Given the description of an element on the screen output the (x, y) to click on. 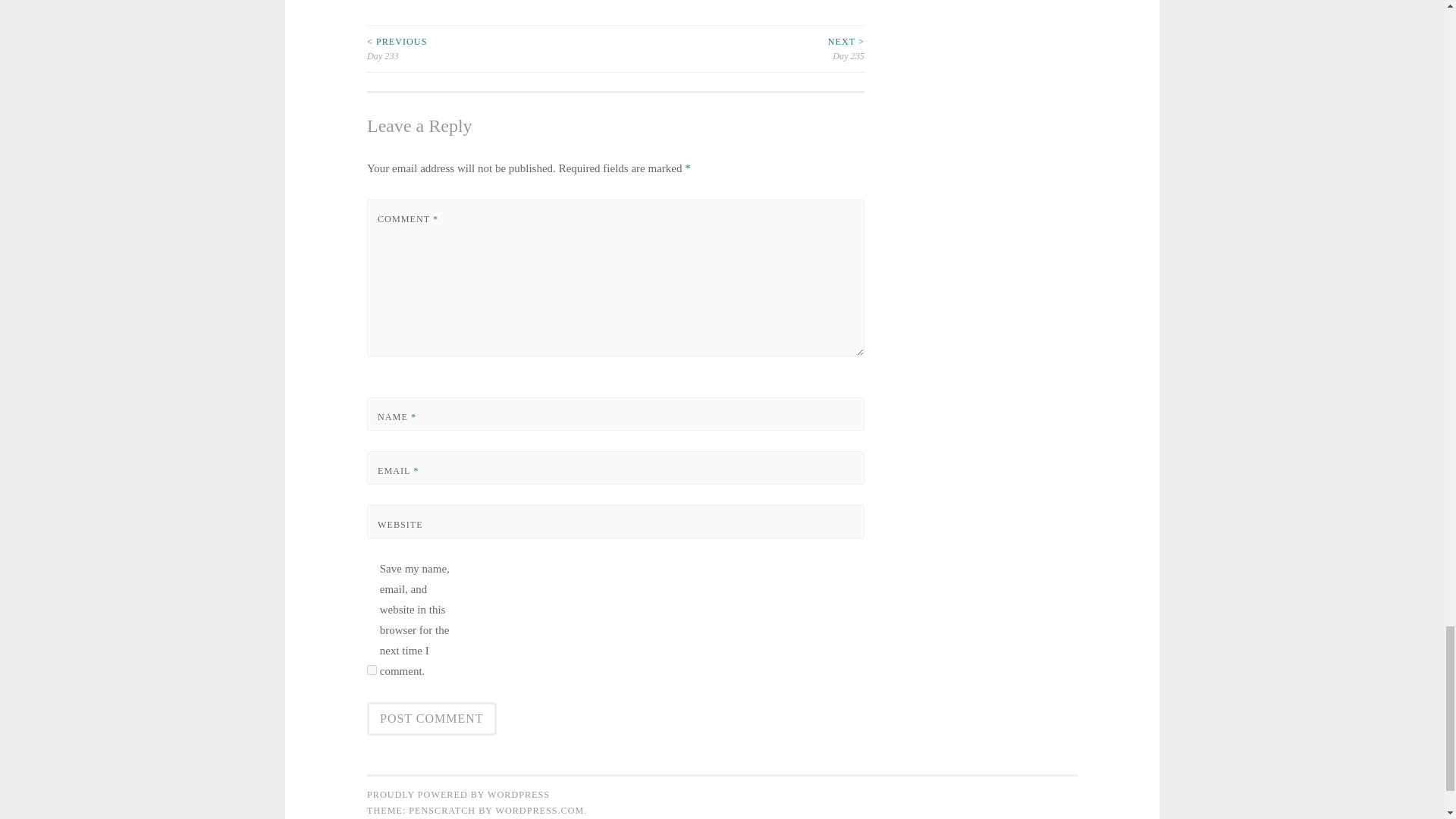
Post Comment (431, 718)
yes (371, 669)
Post Comment (431, 718)
